Given the description of an element on the screen output the (x, y) to click on. 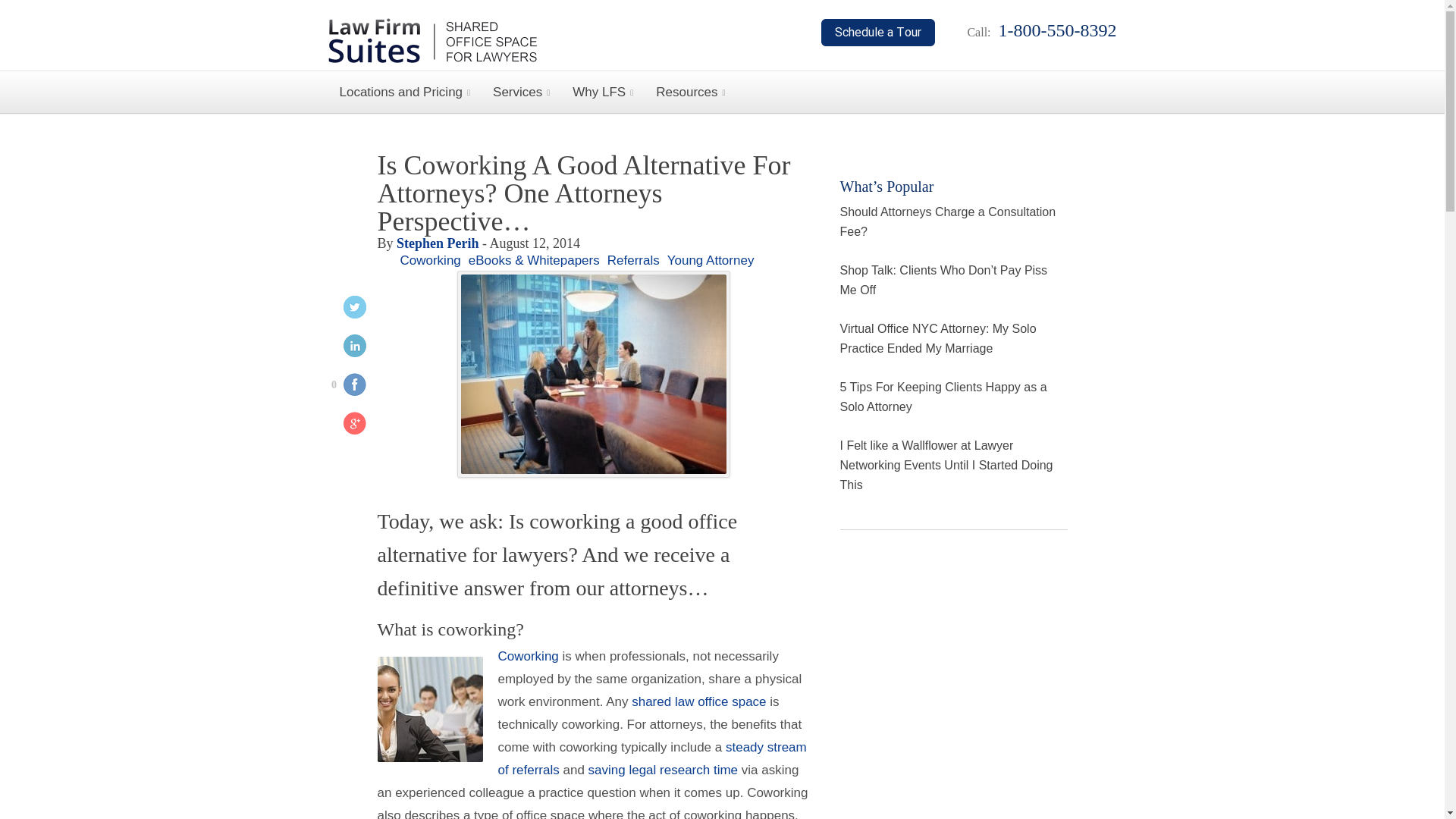
0 (342, 386)
Referrals (633, 260)
Community (527, 656)
Young Attorney (710, 260)
Resources (690, 92)
Services (520, 92)
Stephen Perih (437, 242)
Coworking (430, 260)
Coworking (527, 656)
Locations and Pricing (404, 92)
Why LFS (602, 92)
Referrals (651, 758)
